Given the description of an element on the screen output the (x, y) to click on. 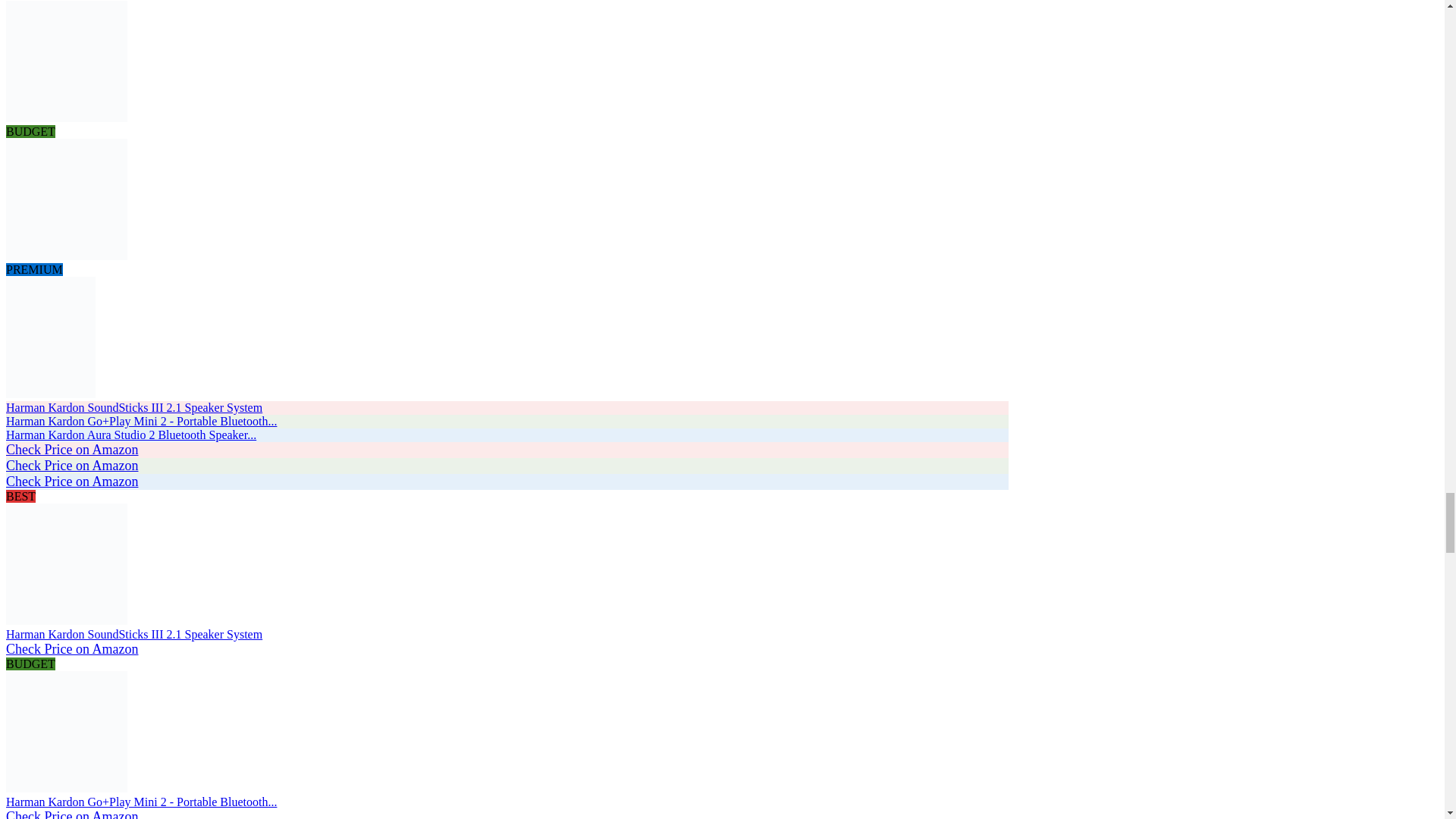
Harman Kardon Aura Studio 2 Bluetooth Speaker... (130, 434)
Check Price on Amazon (71, 465)
Harman Kardon SoundSticks III 2.1 Speaker System (133, 407)
Harman Kardon SoundSticks III 2.1 Speaker System (133, 407)
Check Price on Amazon (71, 648)
Harman Kardon Aura Studio 2 Bluetooth Speaker... (130, 434)
Check Price on Amazon (71, 814)
Harman Kardon Aura Studio 2 Bluetooth Speaker... (50, 393)
Check Price on Amazon (71, 481)
Harman Kardon SoundSticks III 2.1 Speaker System (66, 117)
